Given the description of an element on the screen output the (x, y) to click on. 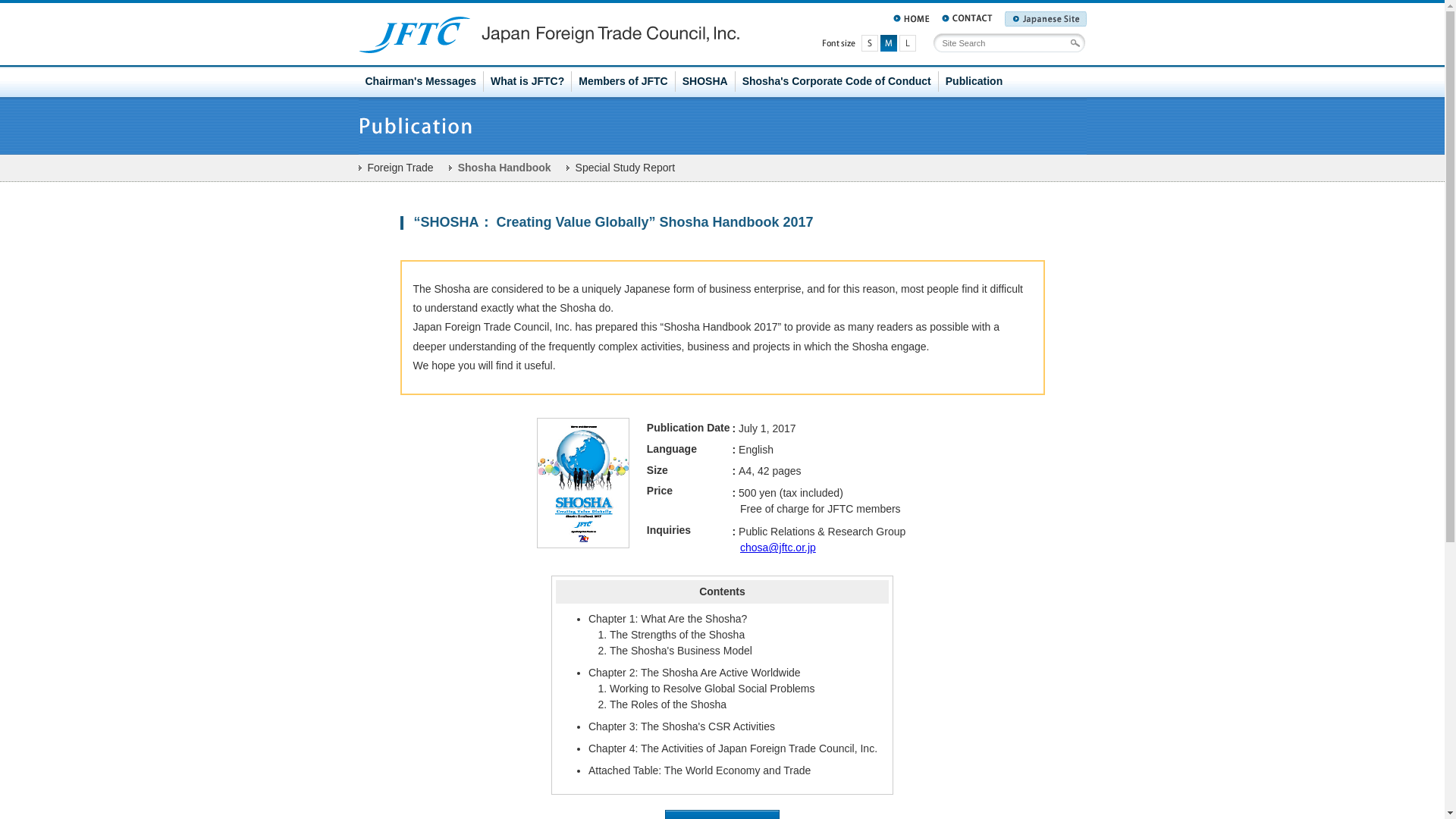
Download PDF (721, 814)
Shosha's Corporate Code of Conduct (837, 81)
What is JFTC? (527, 81)
Foreign Trade (395, 167)
Shosha Handbook (499, 167)
Special Study Report (620, 167)
SHOSHA (705, 81)
Publication (974, 81)
Chairman's Messages (420, 81)
Members of JFTC (623, 81)
